Given the description of an element on the screen output the (x, y) to click on. 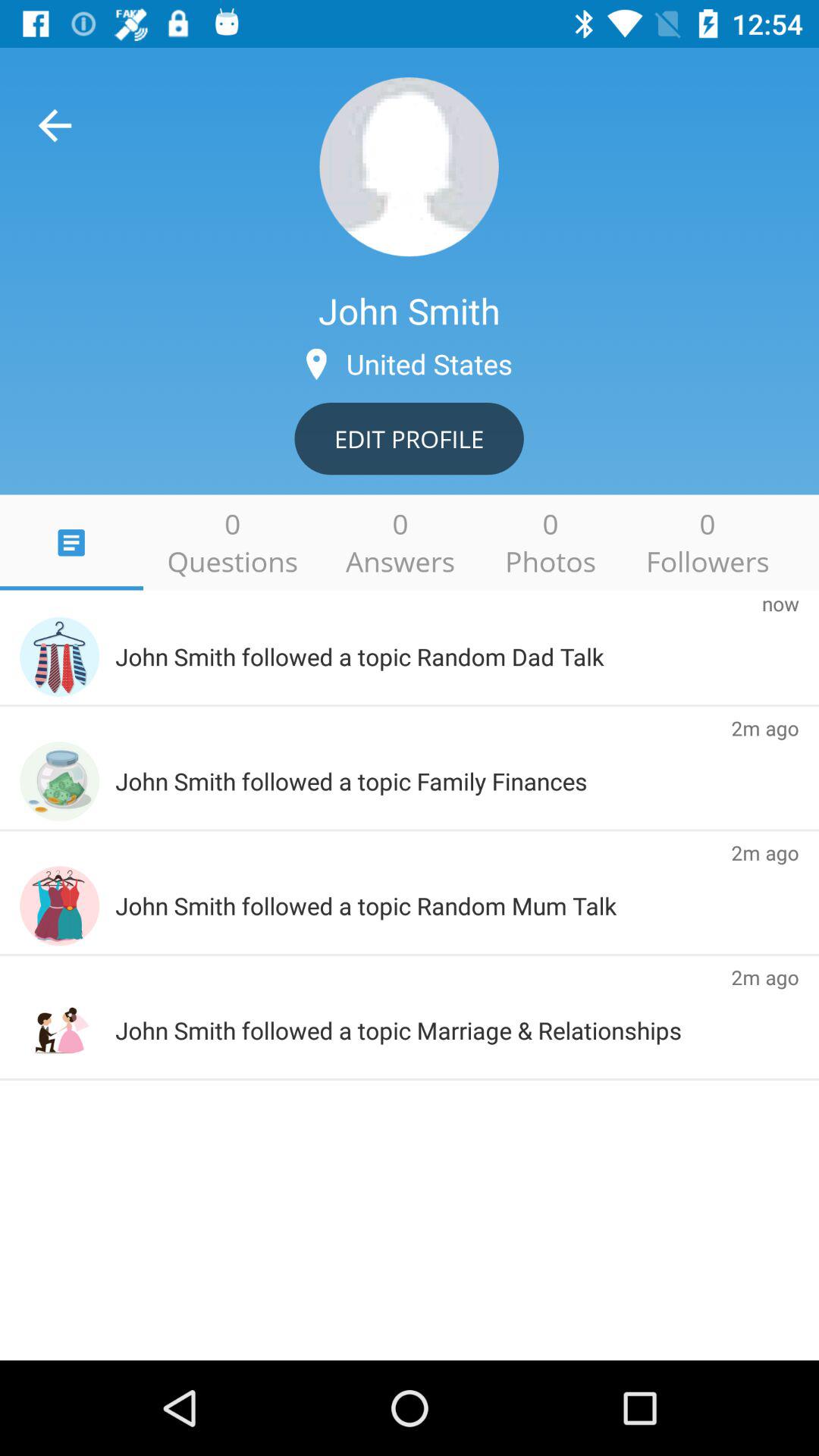
jump until the edit profile icon (408, 438)
